Given the description of an element on the screen output the (x, y) to click on. 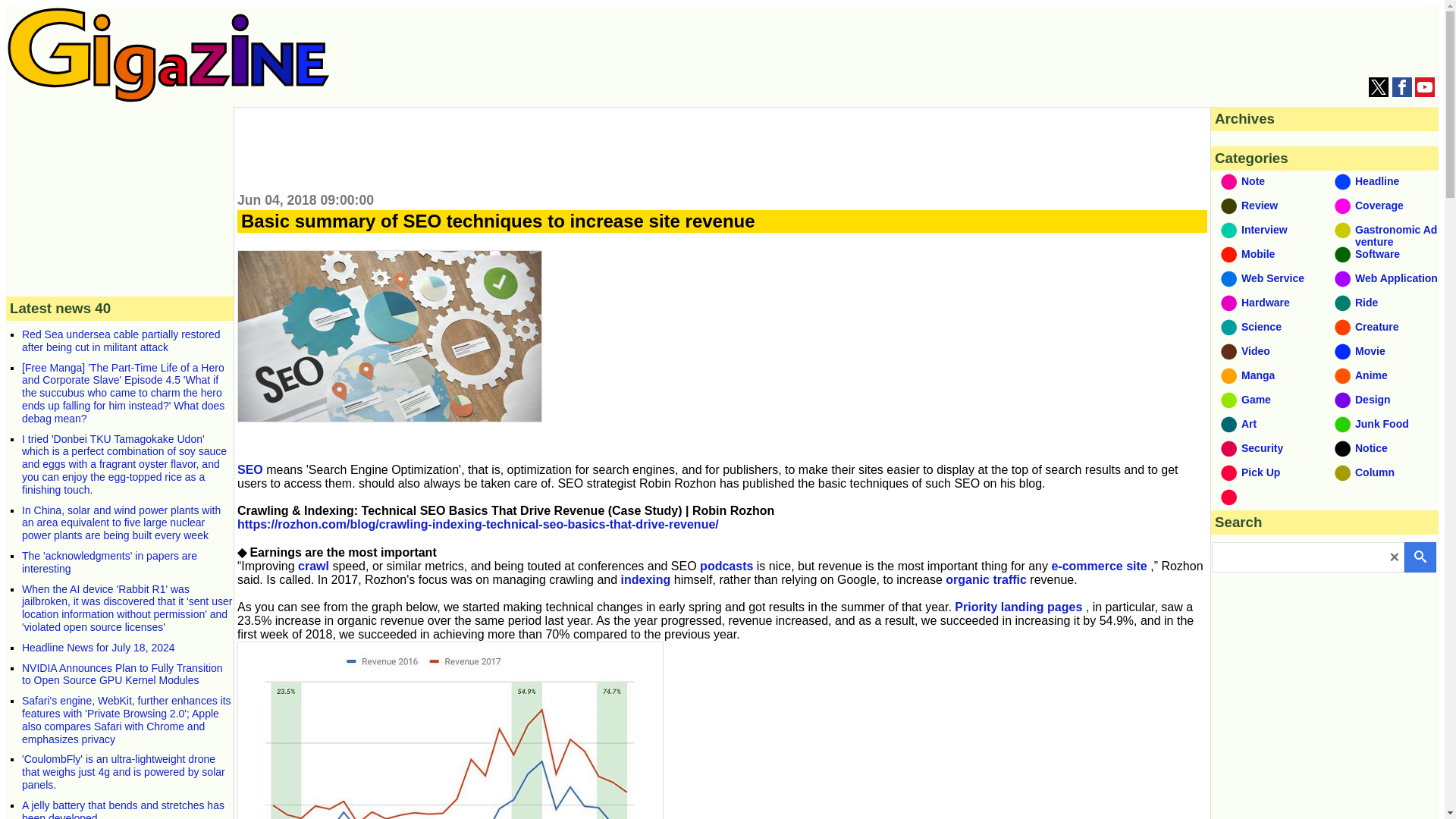
e-commerce site (1099, 565)
GIGAZINE (168, 97)
Priority landing pages (1018, 606)
podcasts (726, 565)
crawl (313, 565)
SEO (250, 469)
GIGAZINE (168, 54)
organic traffic (985, 579)
indexing (646, 579)
